Given the description of an element on the screen output the (x, y) to click on. 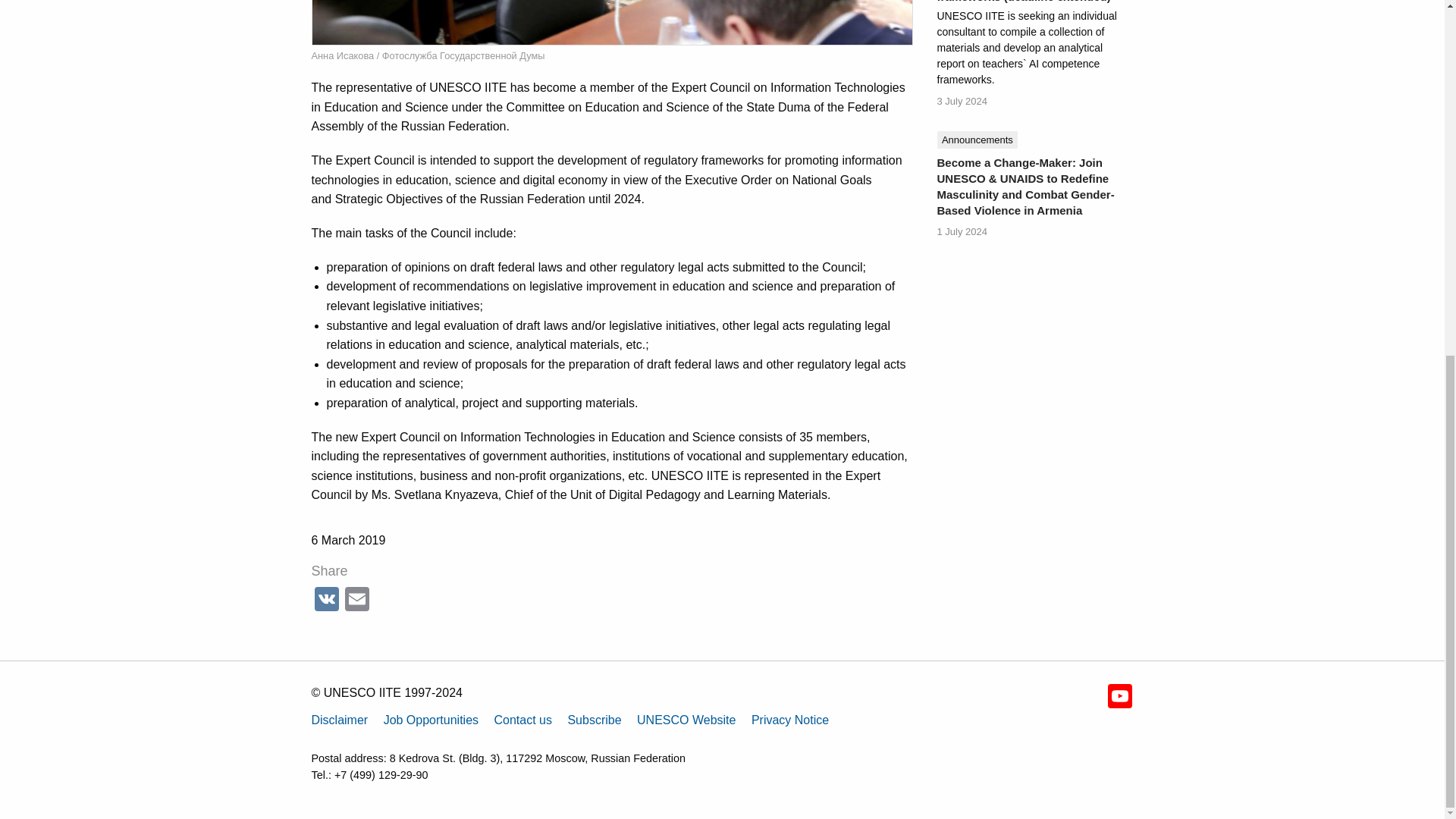
VK (325, 601)
YouTube (1118, 695)
Email (355, 601)
